Given the description of an element on the screen output the (x, y) to click on. 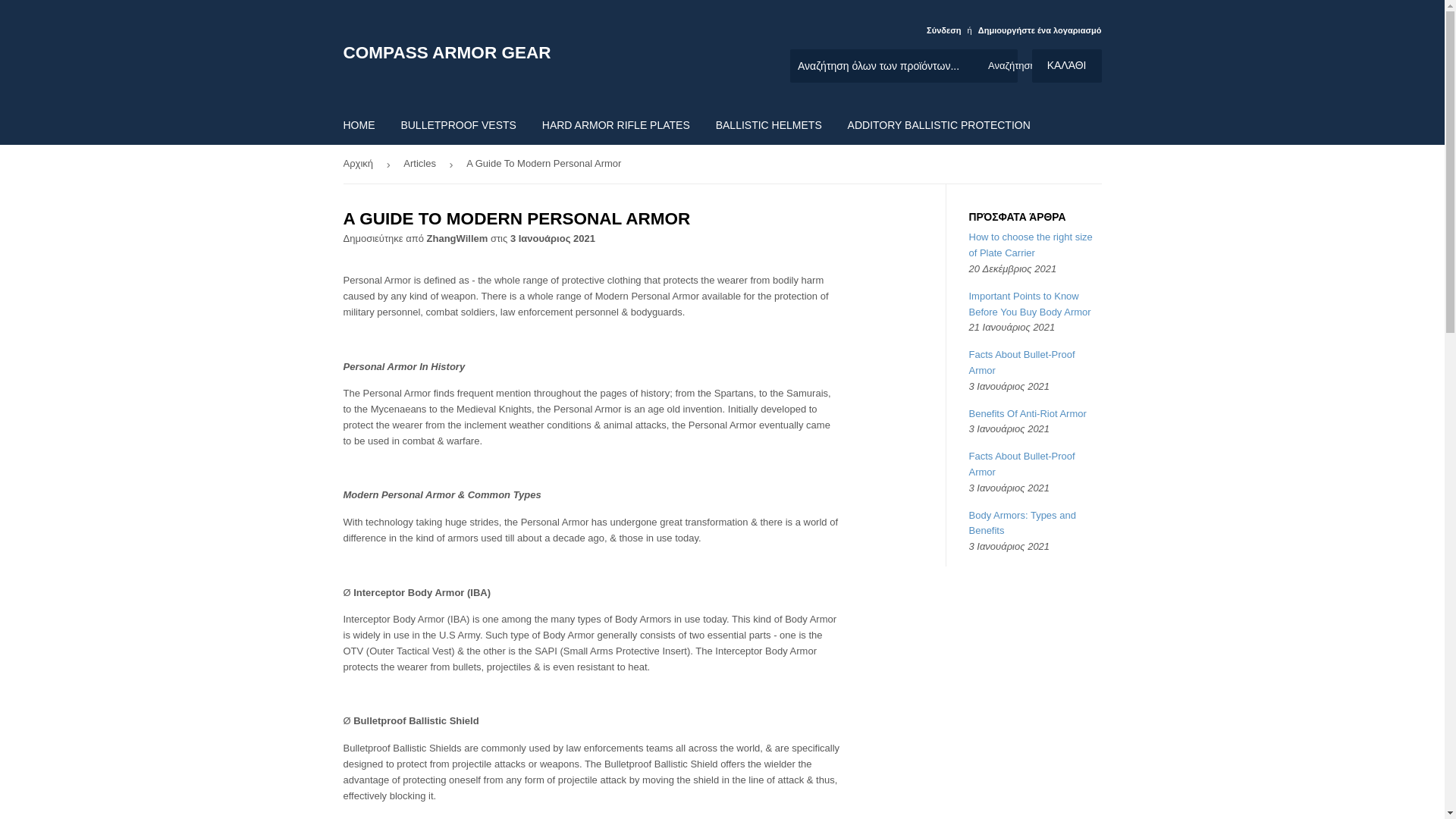
BULLETPROOF VESTS (457, 124)
HARD ARMOR RIFLE PLATES (616, 124)
Important Points to Know Before You Buy Body Armor (1029, 303)
How to choose the right size of Plate Carrier (1031, 244)
BALLISTIC HELMETS (768, 124)
COMPASS ARMOR GEAR (532, 52)
Facts About Bullet-Proof Armor (1022, 463)
Facts About Bullet-Proof Armor (1022, 361)
Benefits Of Anti-Riot Armor (1027, 413)
Articles (422, 163)
HOME (359, 124)
ADDITORY BALLISTIC PROTECTION (938, 124)
Body Armors: Types and Benefits (1022, 523)
